Given the description of an element on the screen output the (x, y) to click on. 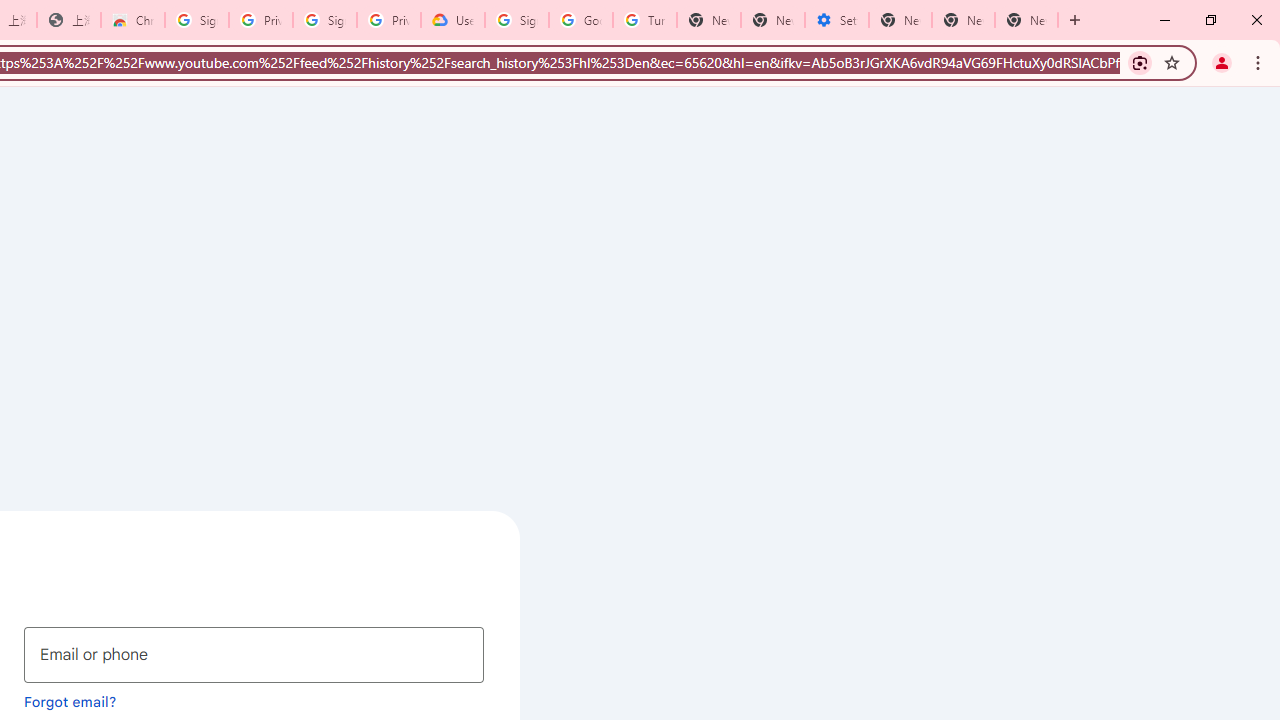
Chrome Web Store - Color themes by Chrome (133, 20)
Sign in - Google Accounts (517, 20)
